Given the description of an element on the screen output the (x, y) to click on. 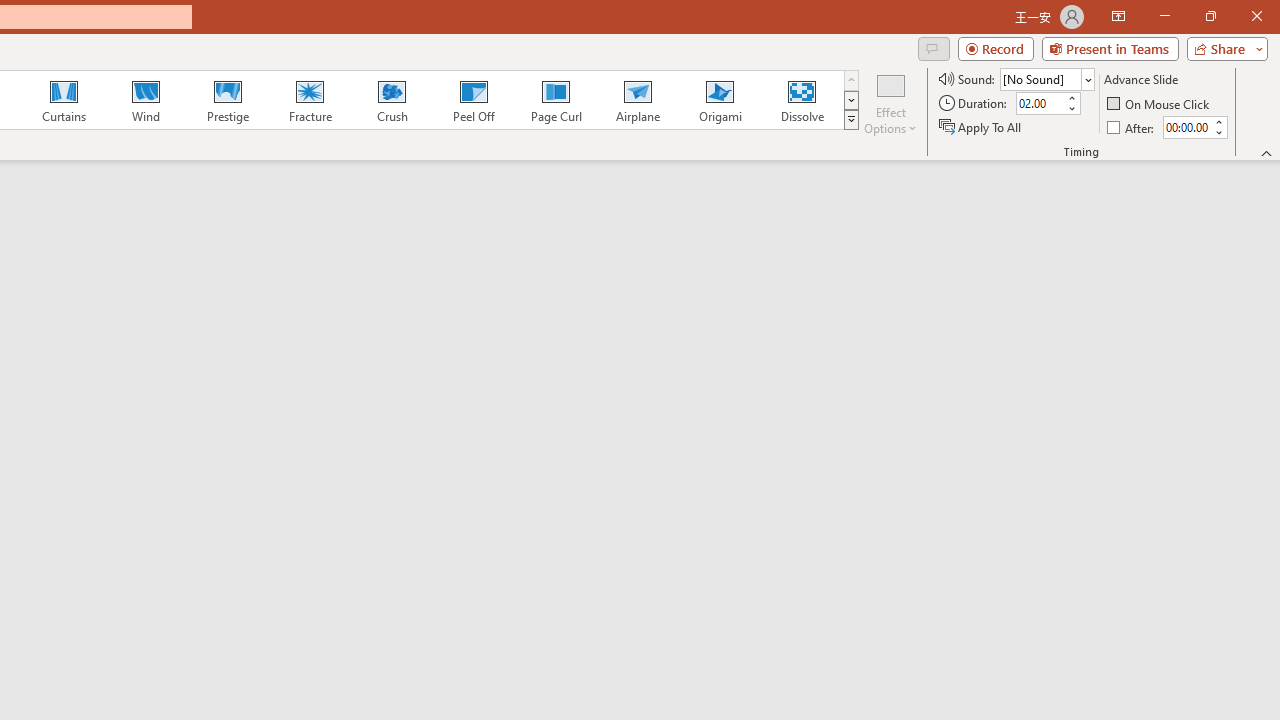
More (1218, 121)
Airplane (637, 100)
Origami (719, 100)
